Given the description of an element on the screen output the (x, y) to click on. 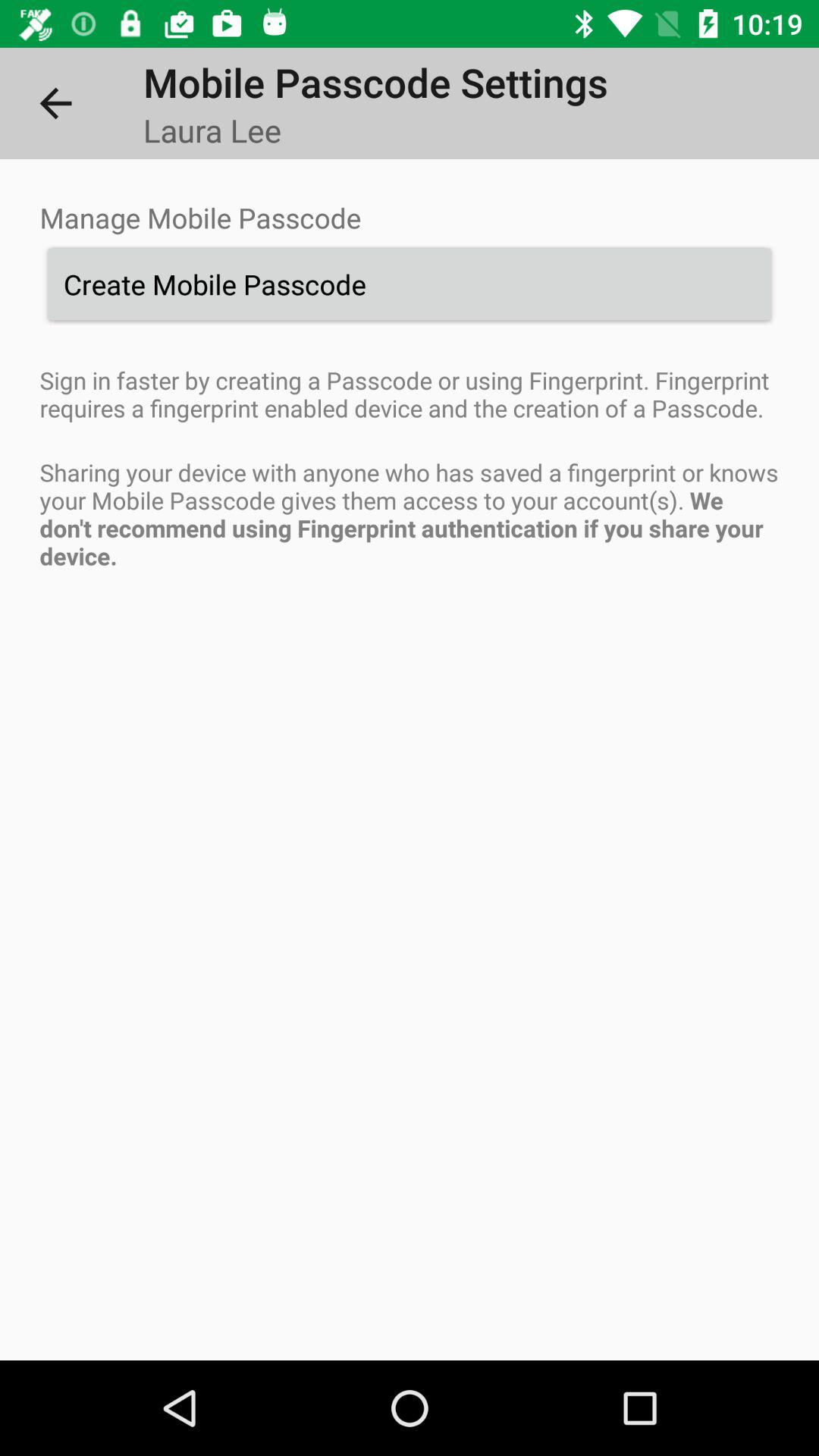
press icon to the left of mobile passcode settings (55, 103)
